Given the description of an element on the screen output the (x, y) to click on. 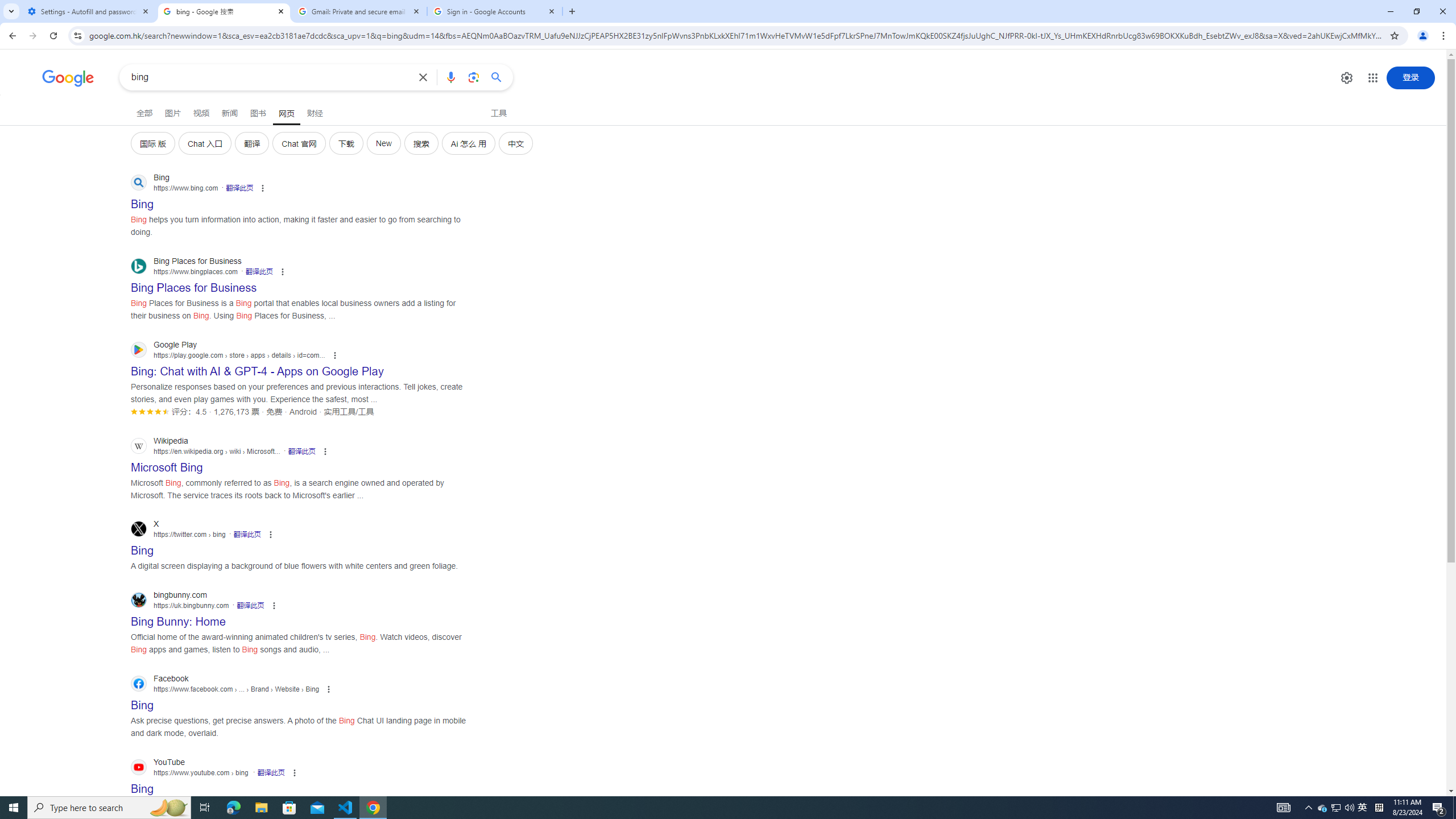
Google (68, 78)
